Given the description of an element on the screen output the (x, y) to click on. 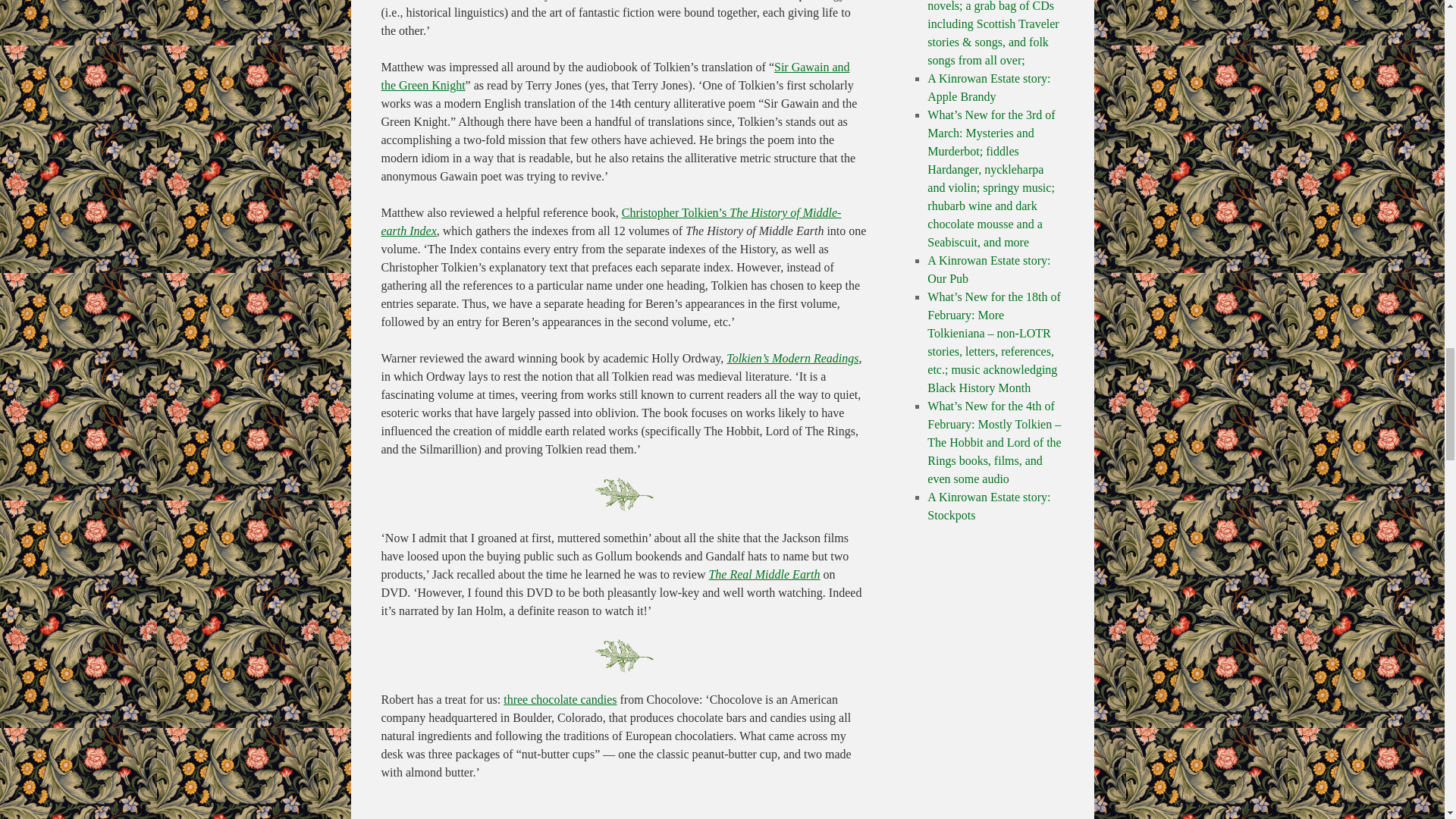
three chocolate candies (559, 698)
The Real Middle Earth (763, 574)
Sir Gawain and the Green Knight (614, 75)
